Given the description of an element on the screen output the (x, y) to click on. 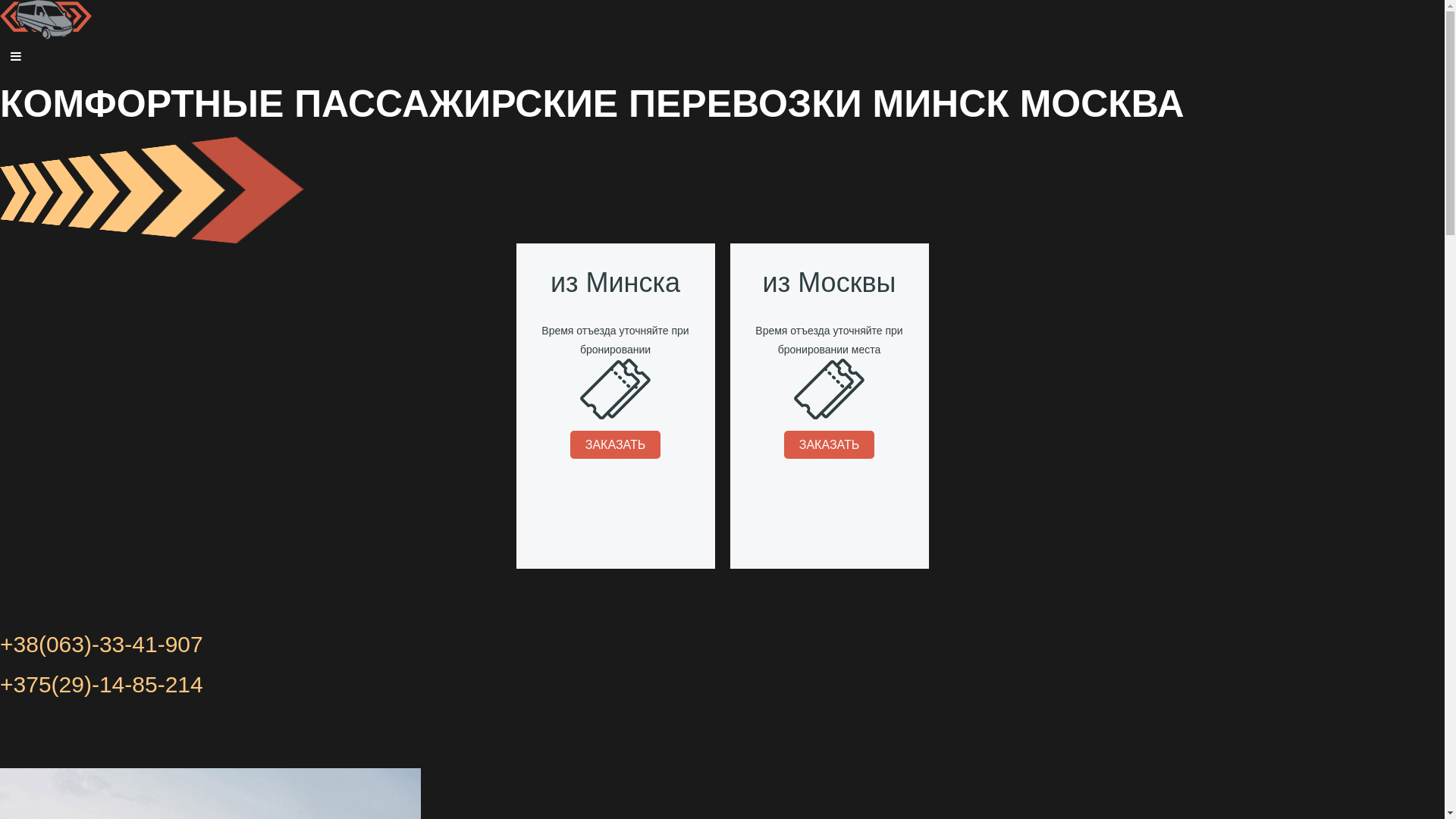
+375(29)-14-85-214 Element type: text (101, 683)
+38(063)-33-41-907 Element type: text (101, 643)
